Given the description of an element on the screen output the (x, y) to click on. 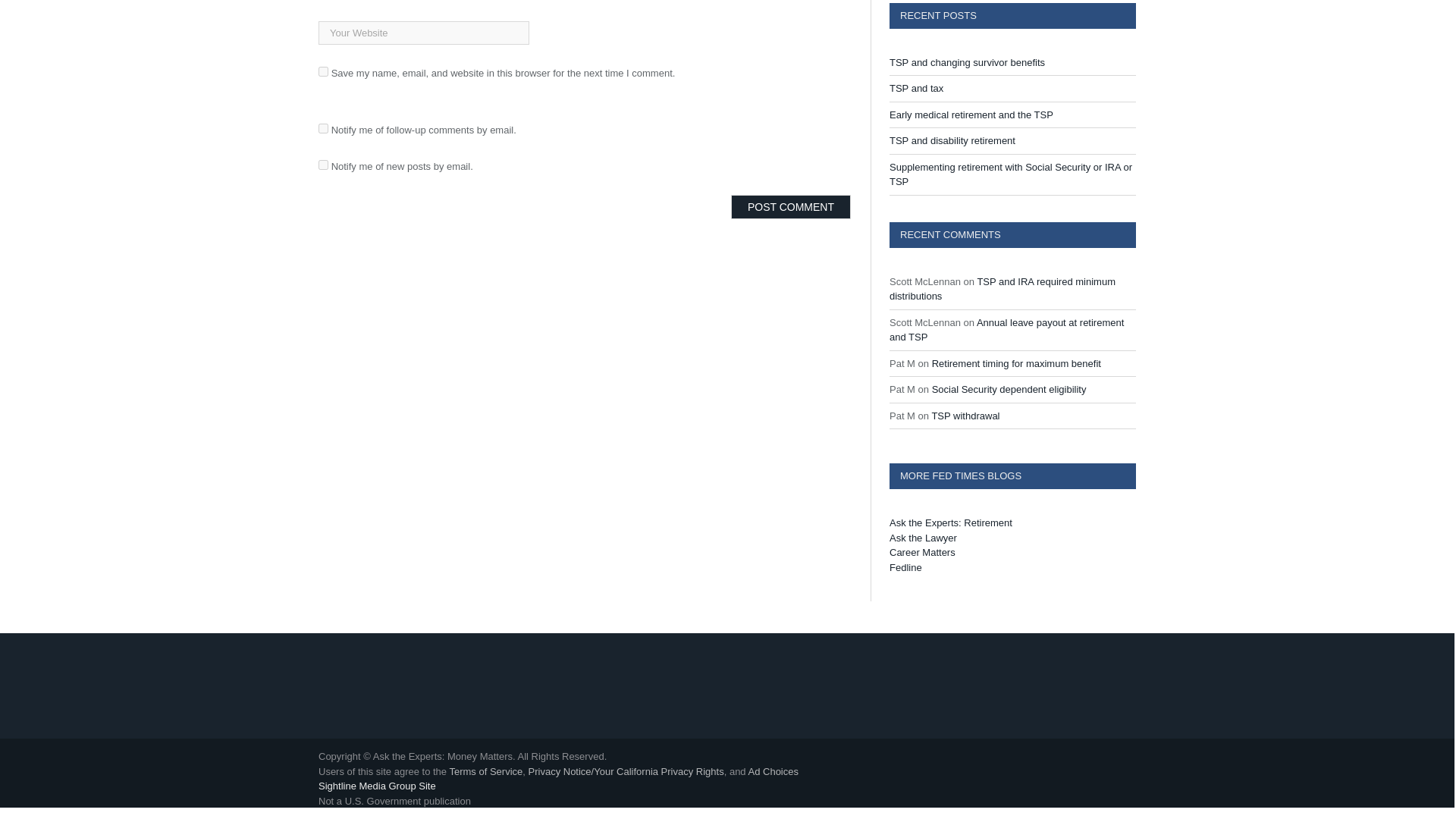
subscribe (323, 164)
Post Comment (790, 206)
yes (323, 71)
subscribe (323, 128)
